Given the description of an element on the screen output the (x, y) to click on. 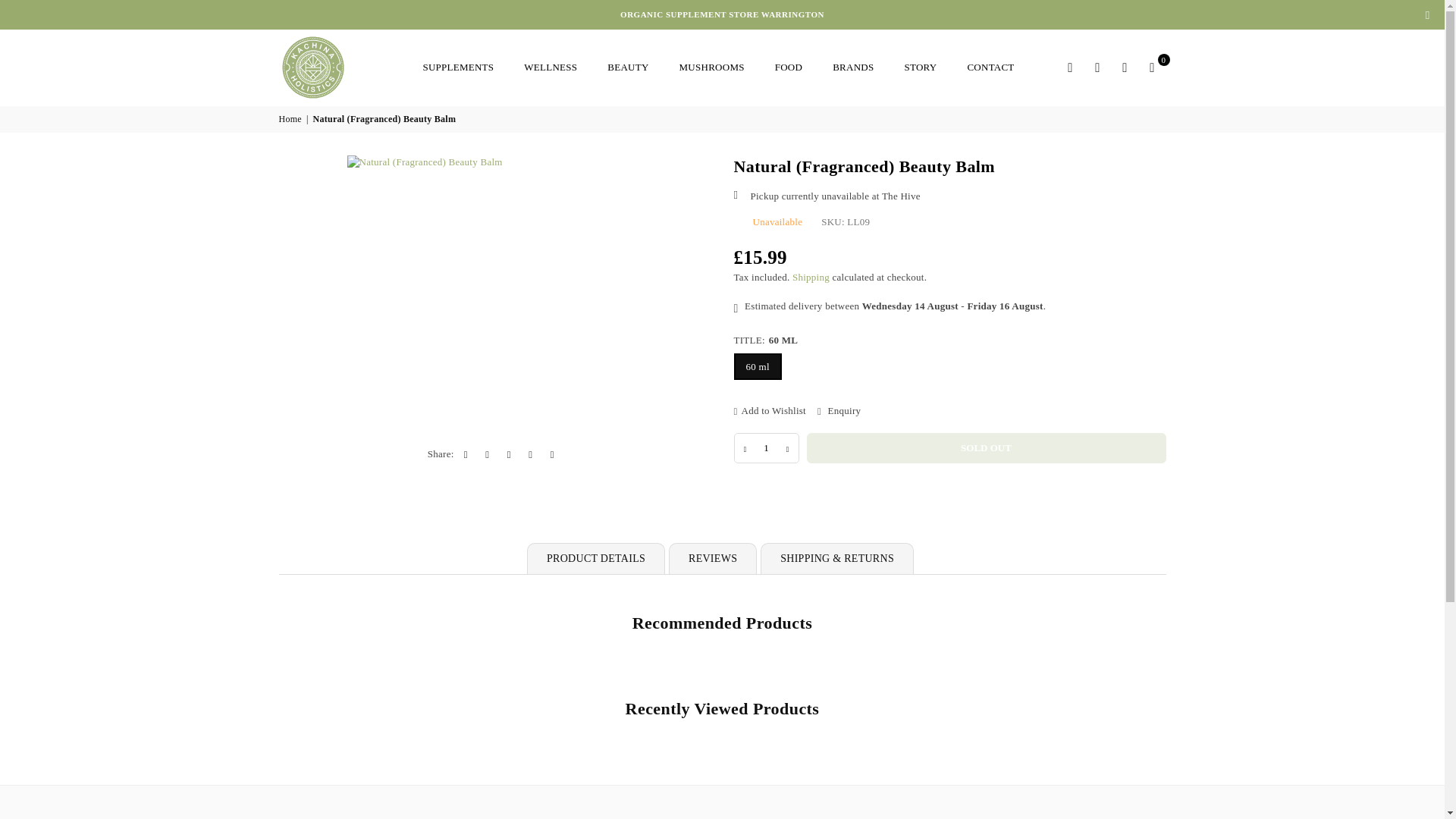
Cart (1152, 67)
Back to the home page (291, 119)
Beauty-Balm-lyonsleaf-fragranced (309, 253)
Wishlist (1125, 67)
Quantity (766, 448)
Settings (1098, 67)
SUPPLEMENTS (457, 67)
KACHINA HOLISTICS (343, 67)
Search (1070, 67)
